Given the description of an element on the screen output the (x, y) to click on. 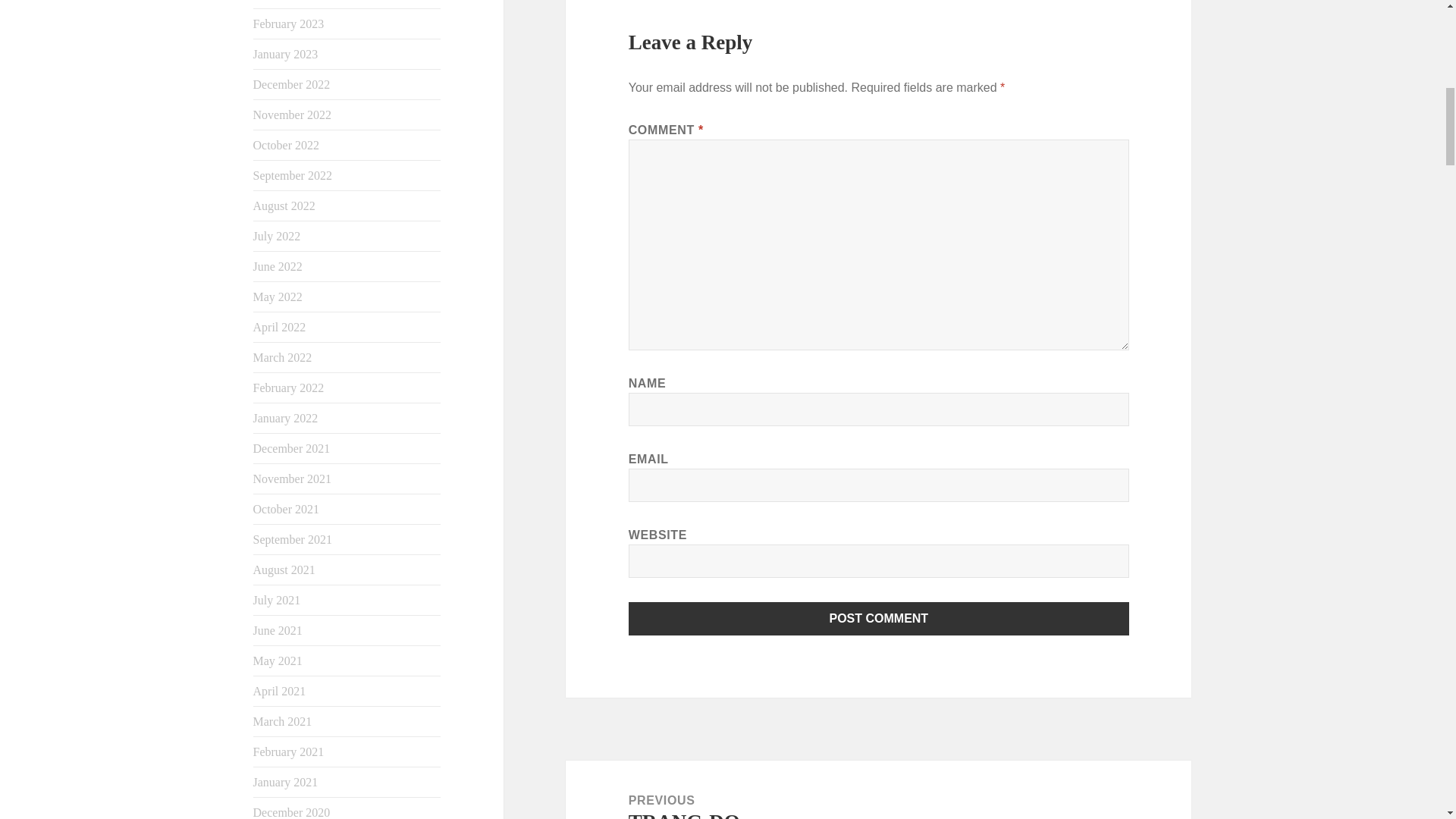
October 2022 (286, 144)
June 2022 (277, 266)
January 2023 (285, 53)
November 2021 (292, 478)
May 2022 (277, 296)
August 2021 (284, 569)
August 2022 (284, 205)
January 2022 (285, 418)
February 2022 (288, 387)
March 2022 (283, 357)
February 2023 (288, 23)
April 2022 (279, 327)
September 2021 (292, 539)
September 2022 (292, 174)
Post Comment (878, 618)
